Given the description of an element on the screen output the (x, y) to click on. 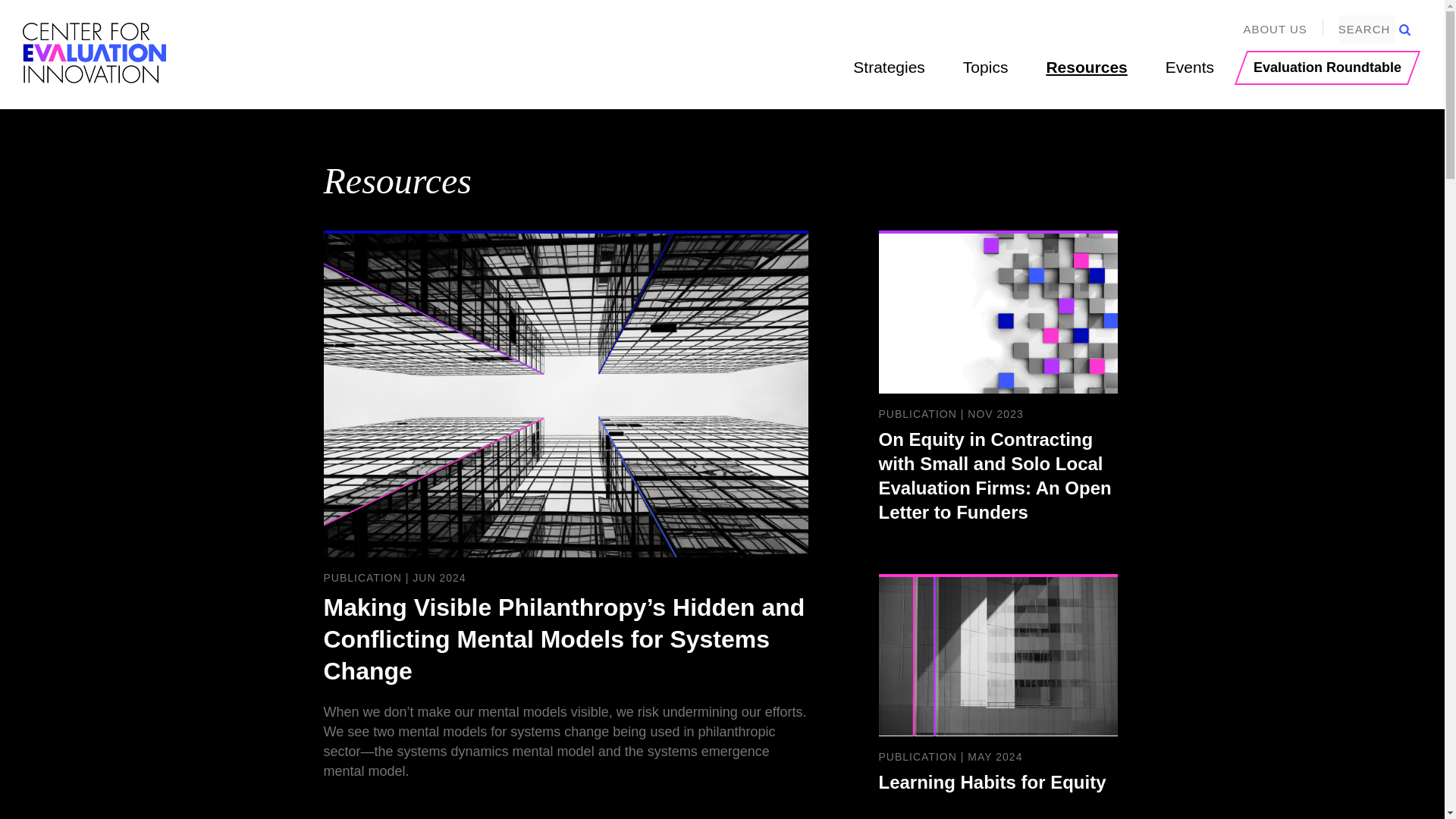
Events (1190, 67)
ABOUT US (1274, 29)
Topics (985, 67)
Learning Habits for Equity (996, 692)
Resources (1085, 67)
Evaluation Roundtable (1321, 67)
Strategies (888, 67)
cei-logo Created with Sketch. (95, 52)
